Given the description of an element on the screen output the (x, y) to click on. 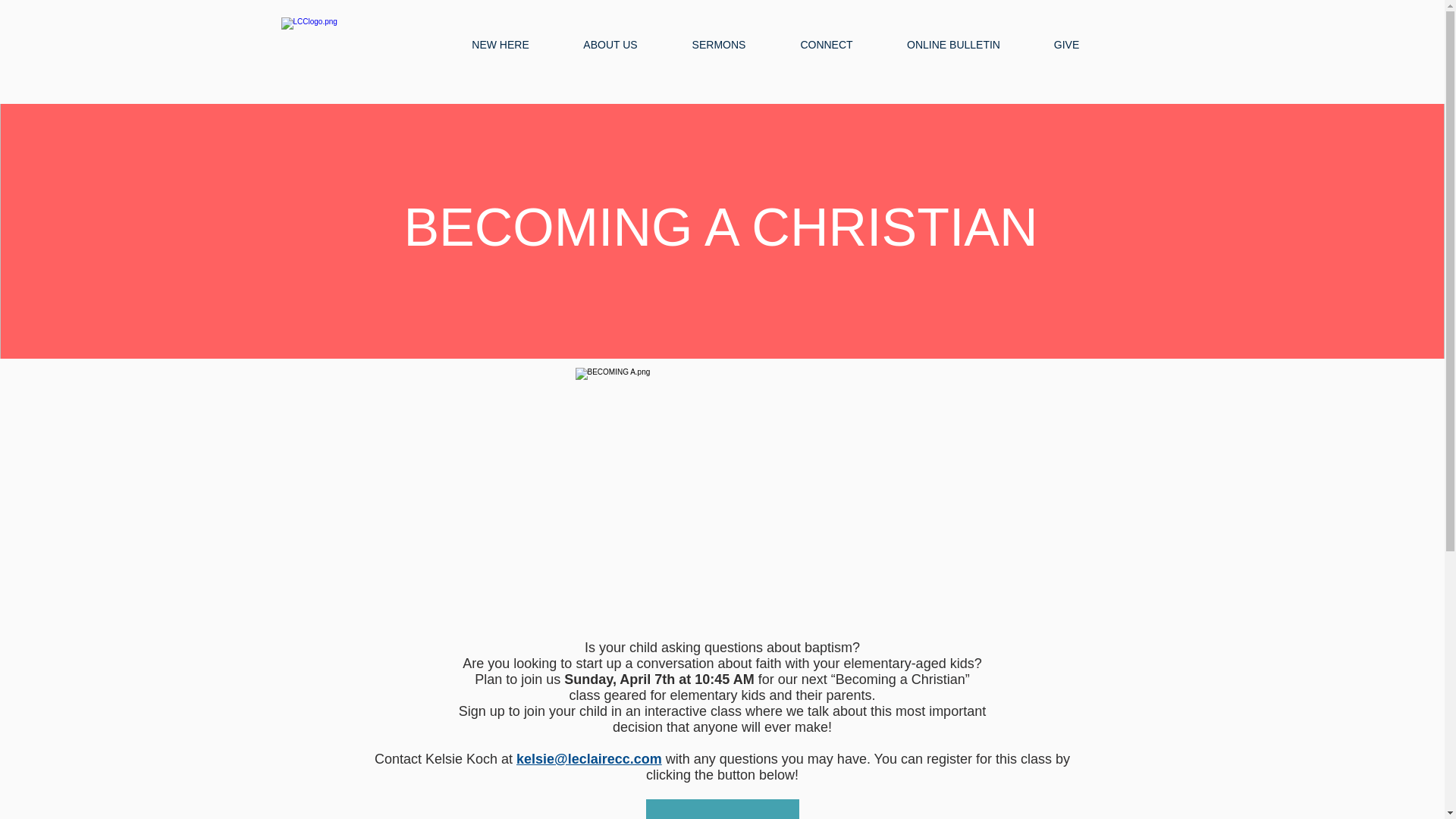
NEW HERE (500, 44)
ABOUT US (610, 44)
GIVE (1065, 44)
Register Here! (722, 809)
ONLINE BULLETIN (952, 44)
CONNECT (826, 44)
SERMONS (718, 44)
